Given the description of an element on the screen output the (x, y) to click on. 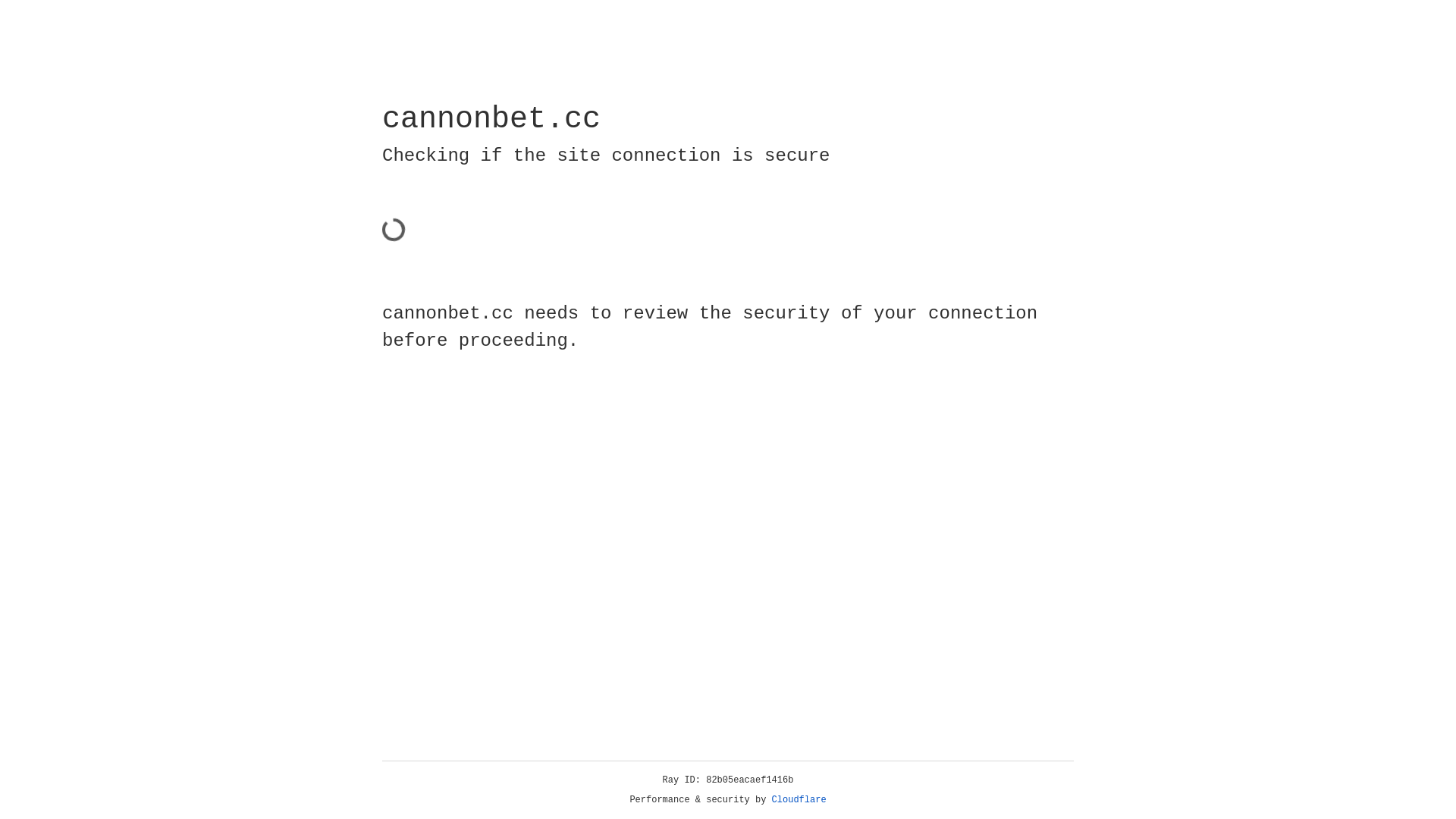
Cloudflare Element type: text (798, 799)
